Given the description of an element on the screen output the (x, y) to click on. 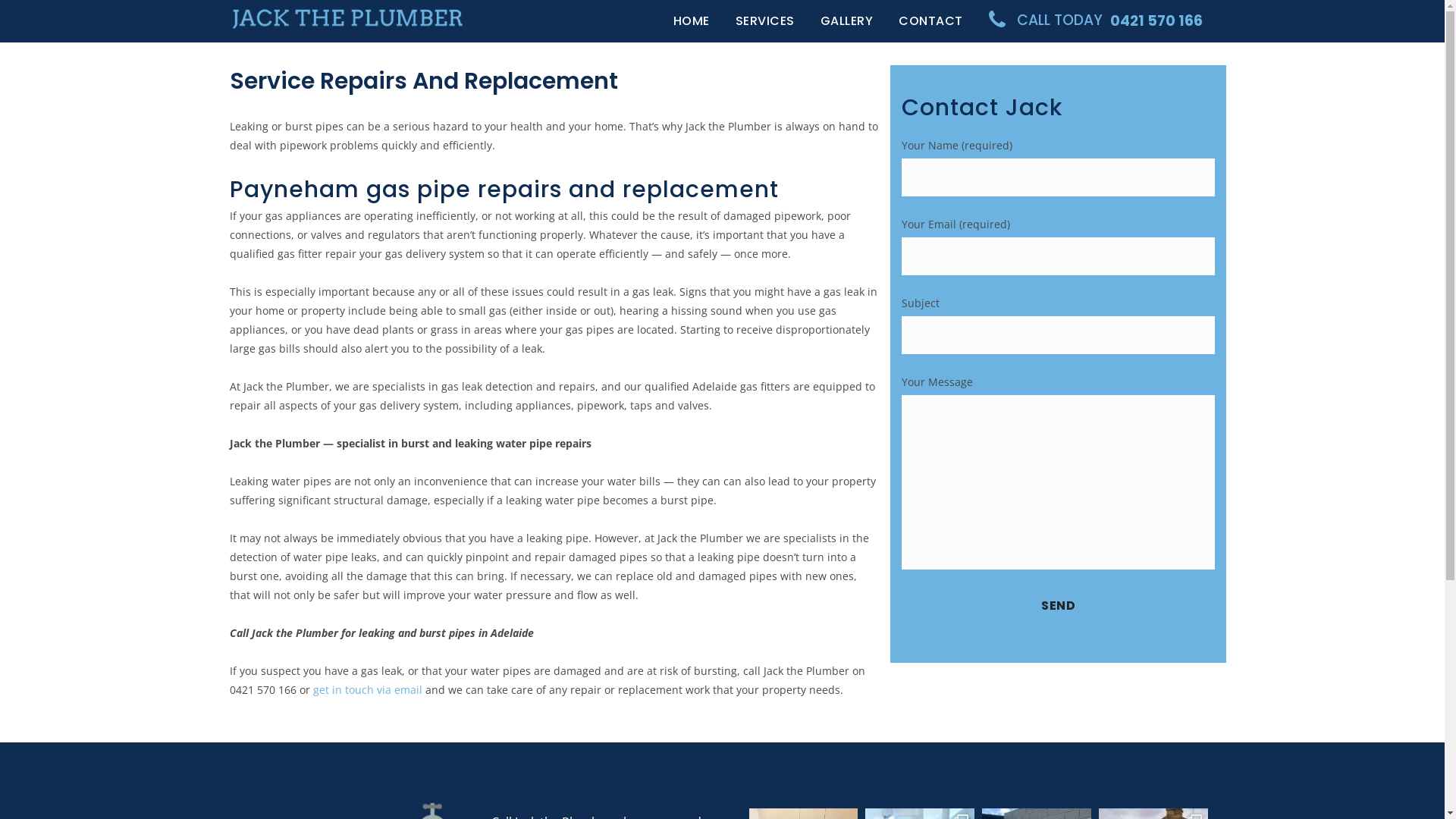
CONTACT Element type: text (930, 20)
HOME Element type: text (690, 20)
get in touch via email Element type: text (366, 689)
Send Element type: text (1057, 605)
SERVICES Element type: text (763, 20)
GALLERY Element type: text (845, 20)
